Given the description of an element on the screen output the (x, y) to click on. 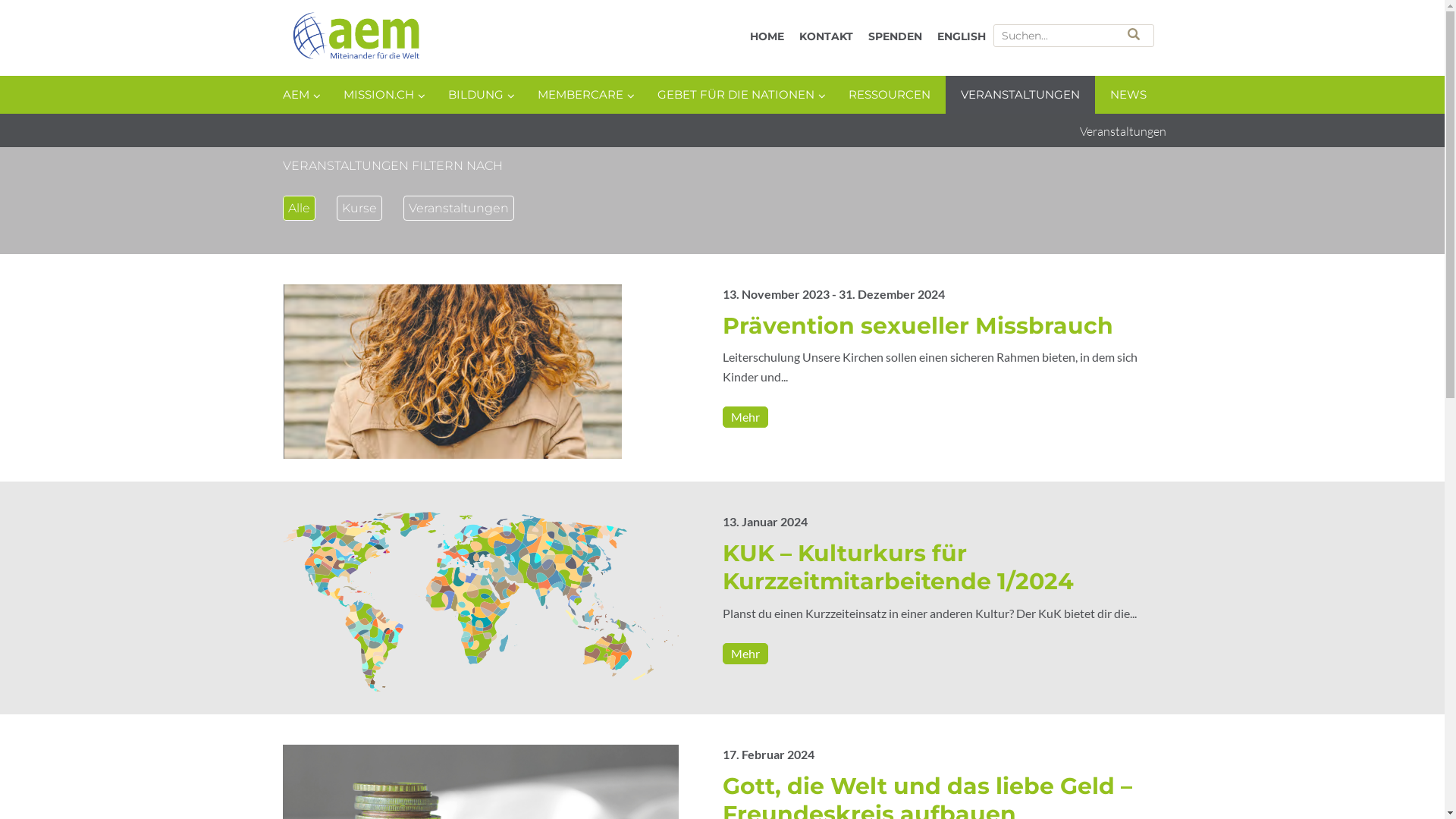
KONTAKT Element type: text (825, 36)
Mehr Element type: text (744, 416)
AEM Element type: text (441, 39)
Veranstaltungen Element type: text (458, 207)
HOME Element type: text (765, 36)
MEMBERCARE Element type: text (581, 94)
BILDUNG Element type: text (476, 94)
Search Element type: text (1134, 33)
Alle Element type: text (298, 207)
MISSION.CH Element type: text (379, 94)
VERANSTALTUNGEN Element type: text (1019, 94)
NEWS Element type: text (1128, 94)
Kurse Element type: text (359, 207)
SPENDEN Element type: text (893, 36)
RESSOURCEN Element type: text (888, 94)
Mehr Element type: text (744, 653)
ENGLISH Element type: text (961, 36)
